Given the description of an element on the screen output the (x, y) to click on. 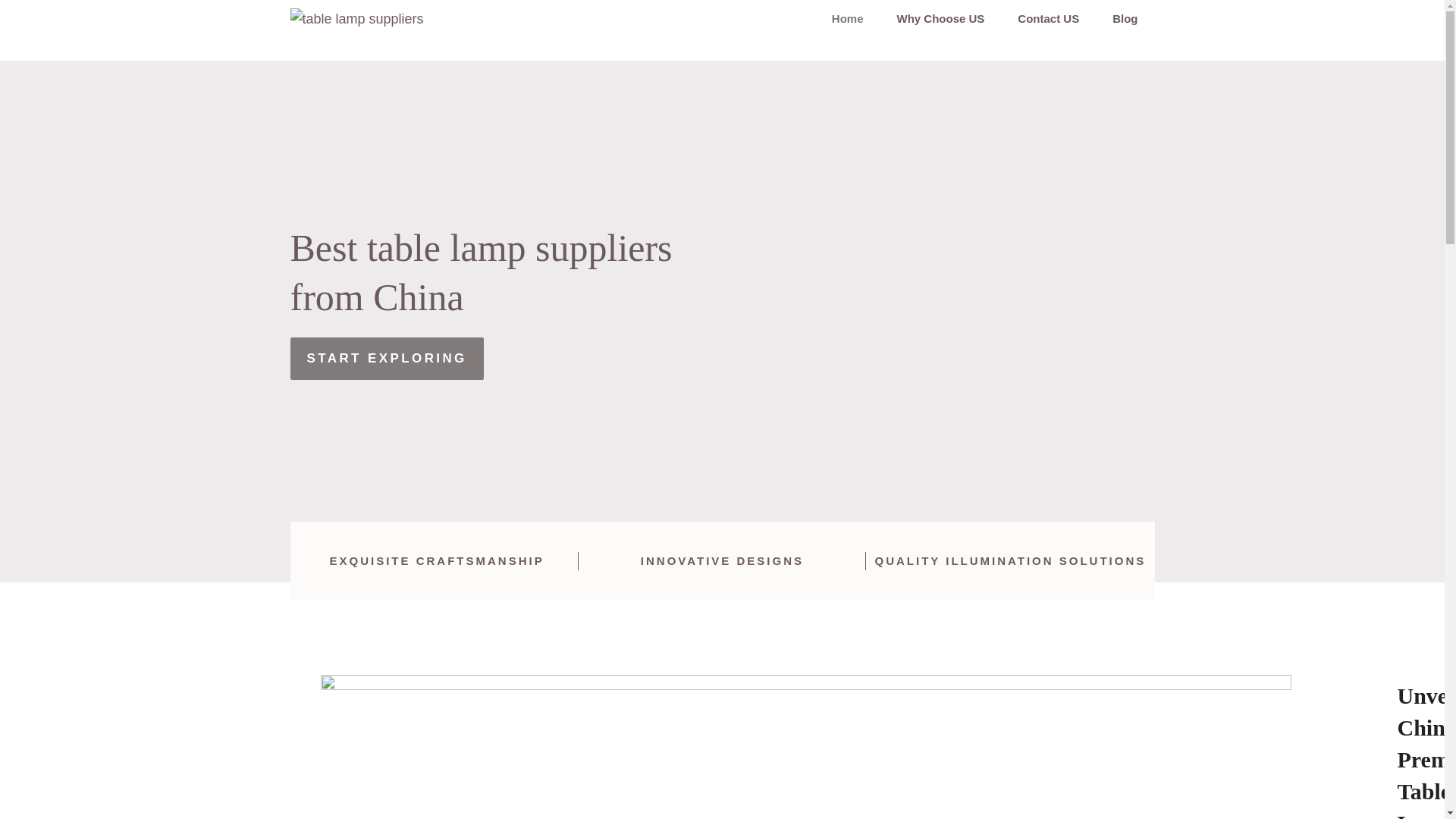
Home (847, 18)
START EXPLORING (386, 358)
Contact US (1048, 18)
Why Choose US (940, 18)
Blog (1125, 18)
